Given the description of an element on the screen output the (x, y) to click on. 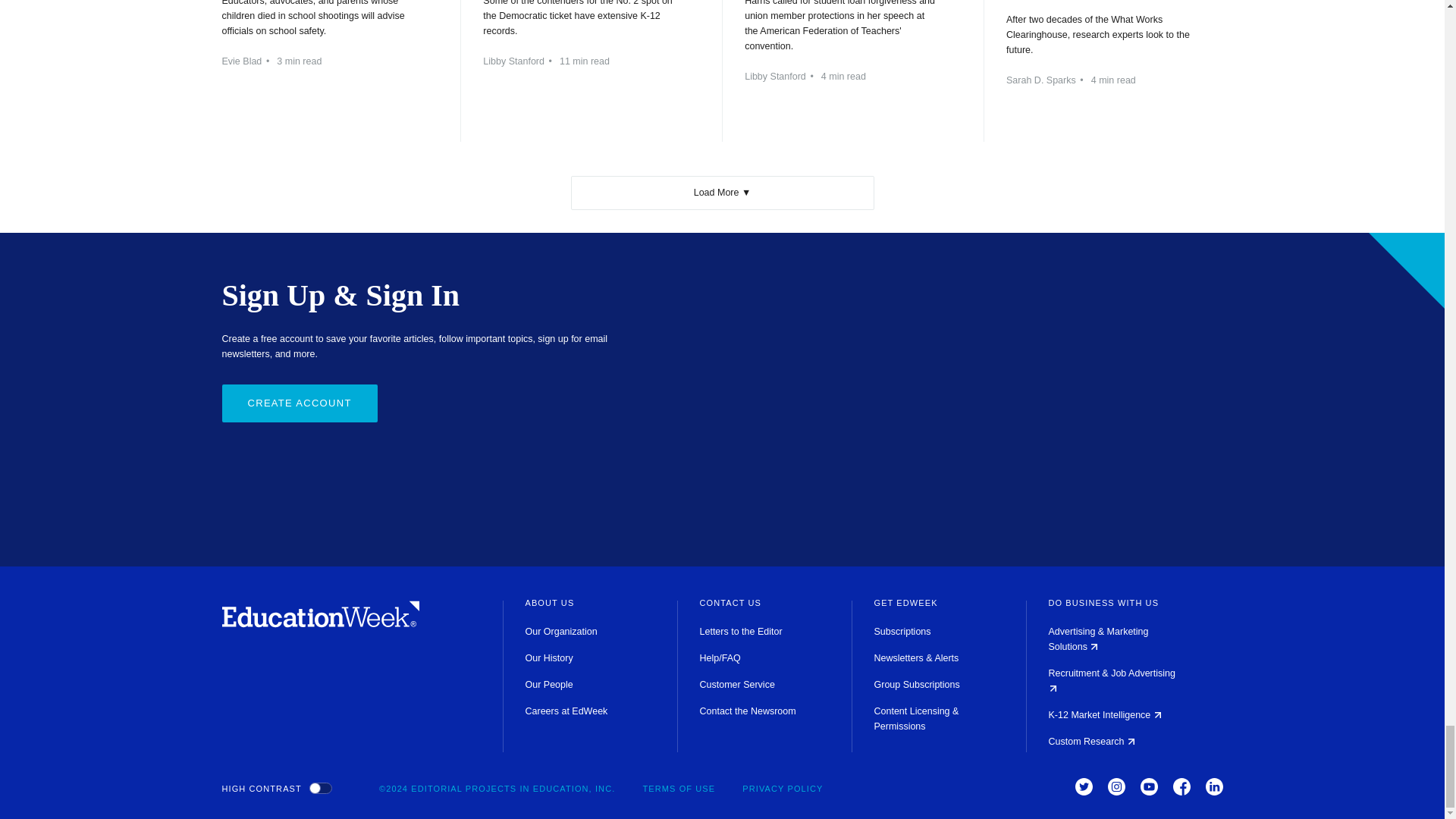
Homepage (320, 623)
